Given the description of an element on the screen output the (x, y) to click on. 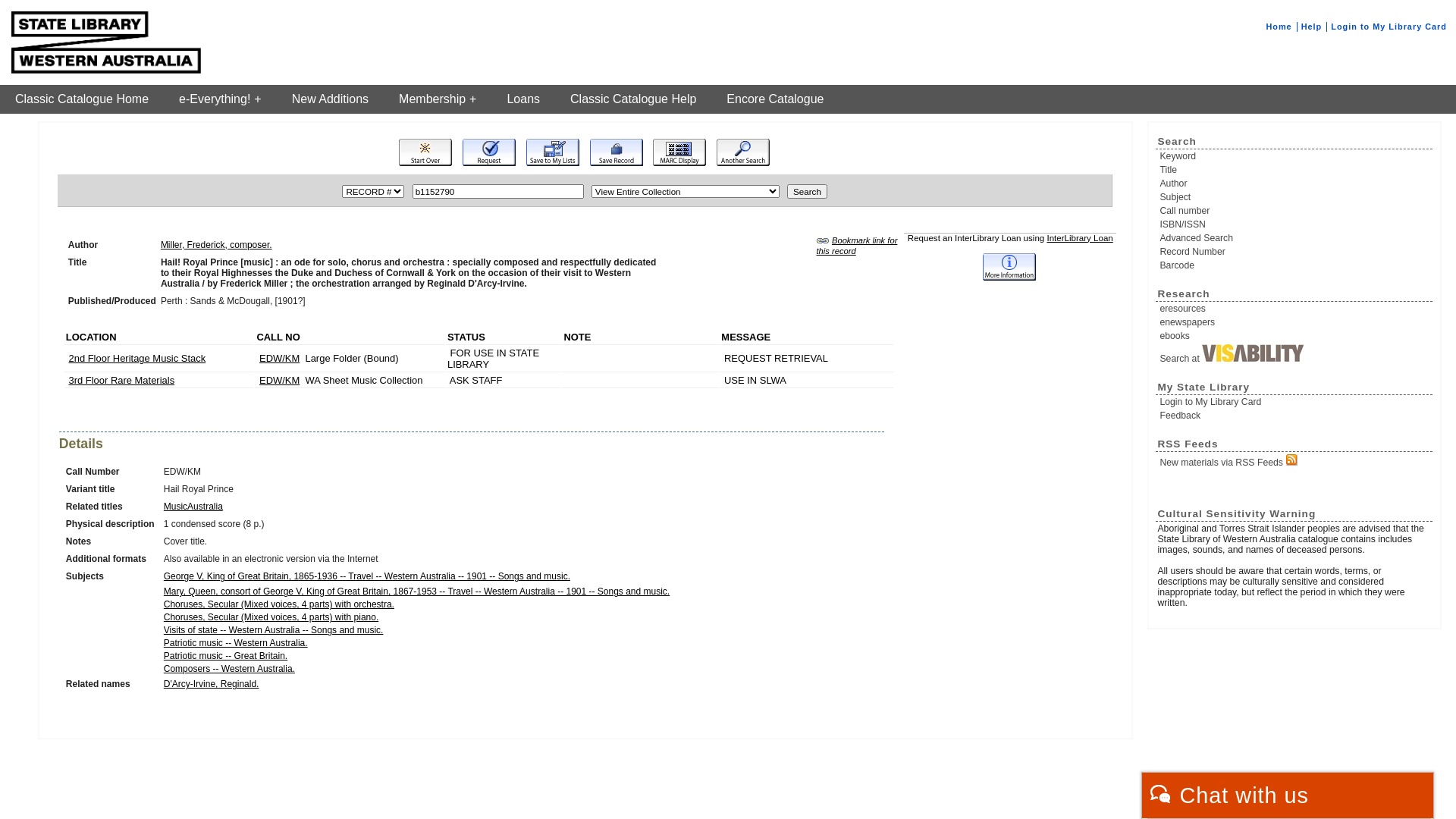
Composers -- Western Australia. Element type: text (228, 668)
InterLibrary Loan Element type: text (1079, 237)
Bookmark link for this record Element type: text (856, 245)
Author Element type: text (1294, 183)
Classic Catalogue Home Element type: text (81, 98)
Search Element type: text (807, 191)
Feedback Element type: text (1294, 415)
e-Everything! Element type: text (219, 98)
Record Number Element type: text (1294, 251)
Call number Element type: text (1294, 210)
eresources Element type: text (1294, 308)
ebooks Element type: text (1294, 335)
ISBN/ISSN Element type: text (1294, 224)
Choruses, Secular (Mixed voices, 4 parts) with orchestra. Element type: text (278, 604)
EDW/KM Element type: text (279, 379)
Subject Element type: text (1294, 196)
New Additions Element type: text (329, 98)
Membership Element type: text (437, 98)
Barcode Element type: text (1294, 265)
2nd Floor Heritage Music Stack Element type: text (136, 358)
MusicAustralia Element type: text (192, 506)
D'Arcy-Irvine, Reginald. Element type: text (211, 683)
New materials via RSS Feeds Element type: text (1294, 460)
Help Element type: text (1311, 26)
Loans Element type: text (523, 98)
Chat with us Element type: text (1287, 795)
3rd Floor Rare Materials Element type: text (121, 379)
Search at Element type: text (1294, 354)
Login to My Library Card Element type: text (1294, 401)
enewspapers Element type: text (1294, 321)
Visits of state -- Western Australia -- Songs and music. Element type: text (273, 629)
Login to My Library Card Element type: text (1388, 26)
Home Element type: text (1278, 26)
Classic Catalogue Help Element type: text (633, 98)
Patriotic music -- Western Australia. Element type: text (235, 642)
Miller, Frederick, composer. Element type: text (216, 244)
Advanced Search Element type: text (1294, 237)
Encore Catalogue Element type: text (774, 98)
Title Element type: text (1294, 169)
Keyword Element type: text (1294, 155)
Patriotic music -- Great Britain. Element type: text (225, 655)
EDW/KM Element type: text (279, 358)
Choruses, Secular (Mixed voices, 4 parts) with piano. Element type: text (270, 616)
